Given the description of an element on the screen output the (x, y) to click on. 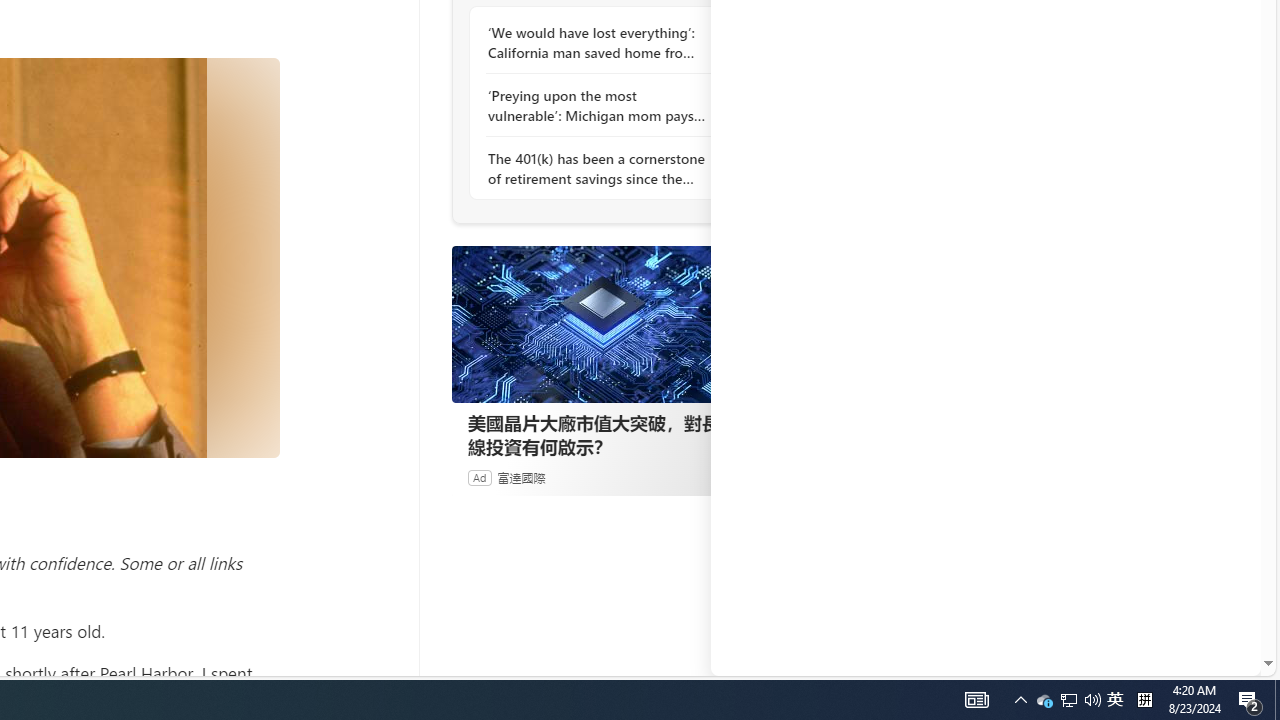
Feedback (1185, 659)
Ad (479, 477)
Ad Choice (729, 477)
